Given the description of an element on the screen output the (x, y) to click on. 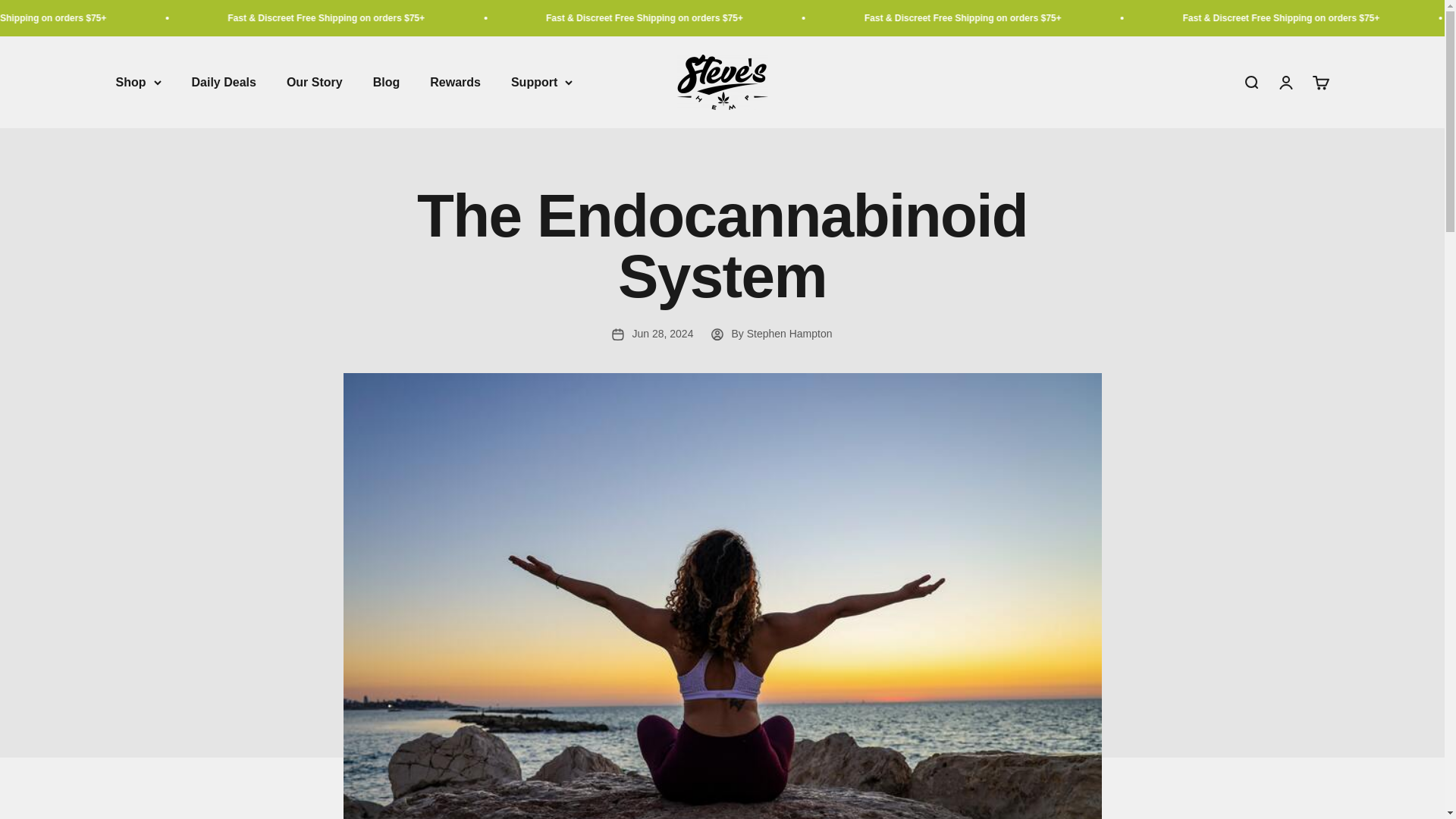
Blog (386, 82)
Open account page (1285, 82)
Rewards (454, 82)
Daily Deals (223, 82)
SH Supply LLC (722, 81)
Open search (1319, 82)
Our Story (1250, 82)
